Given the description of an element on the screen output the (x, y) to click on. 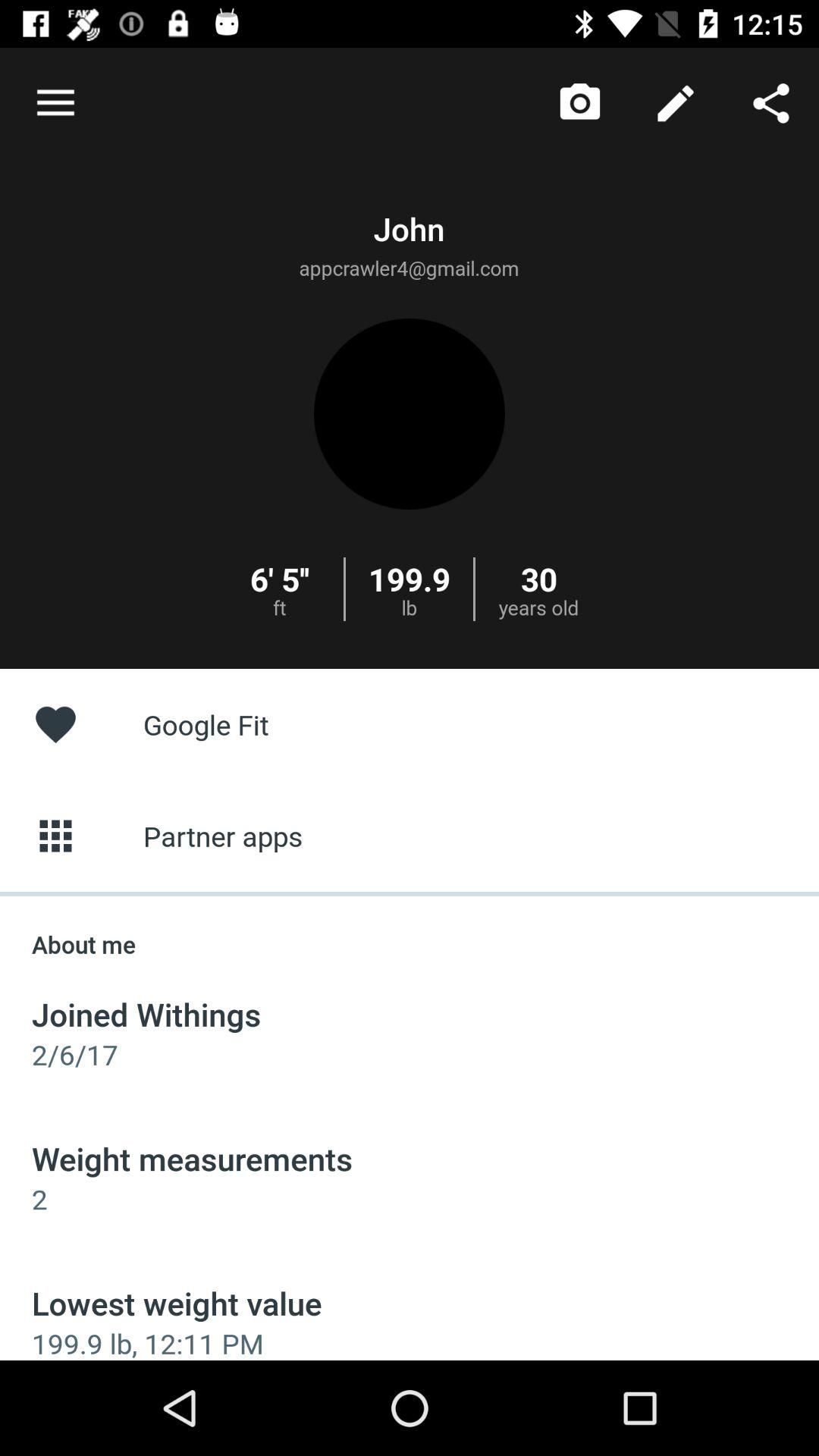
select google fit item (409, 724)
